Given the description of an element on the screen output the (x, y) to click on. 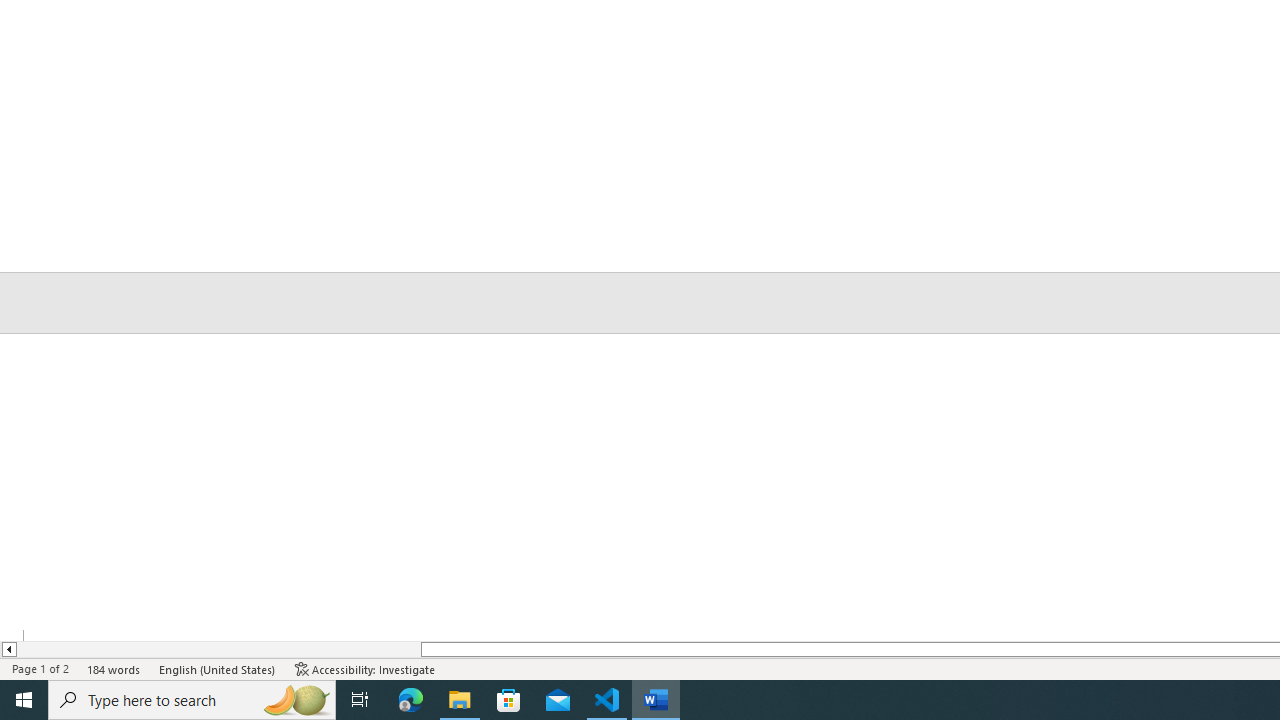
Page Number Page 1 of 2 (39, 668)
